Given the description of an element on the screen output the (x, y) to click on. 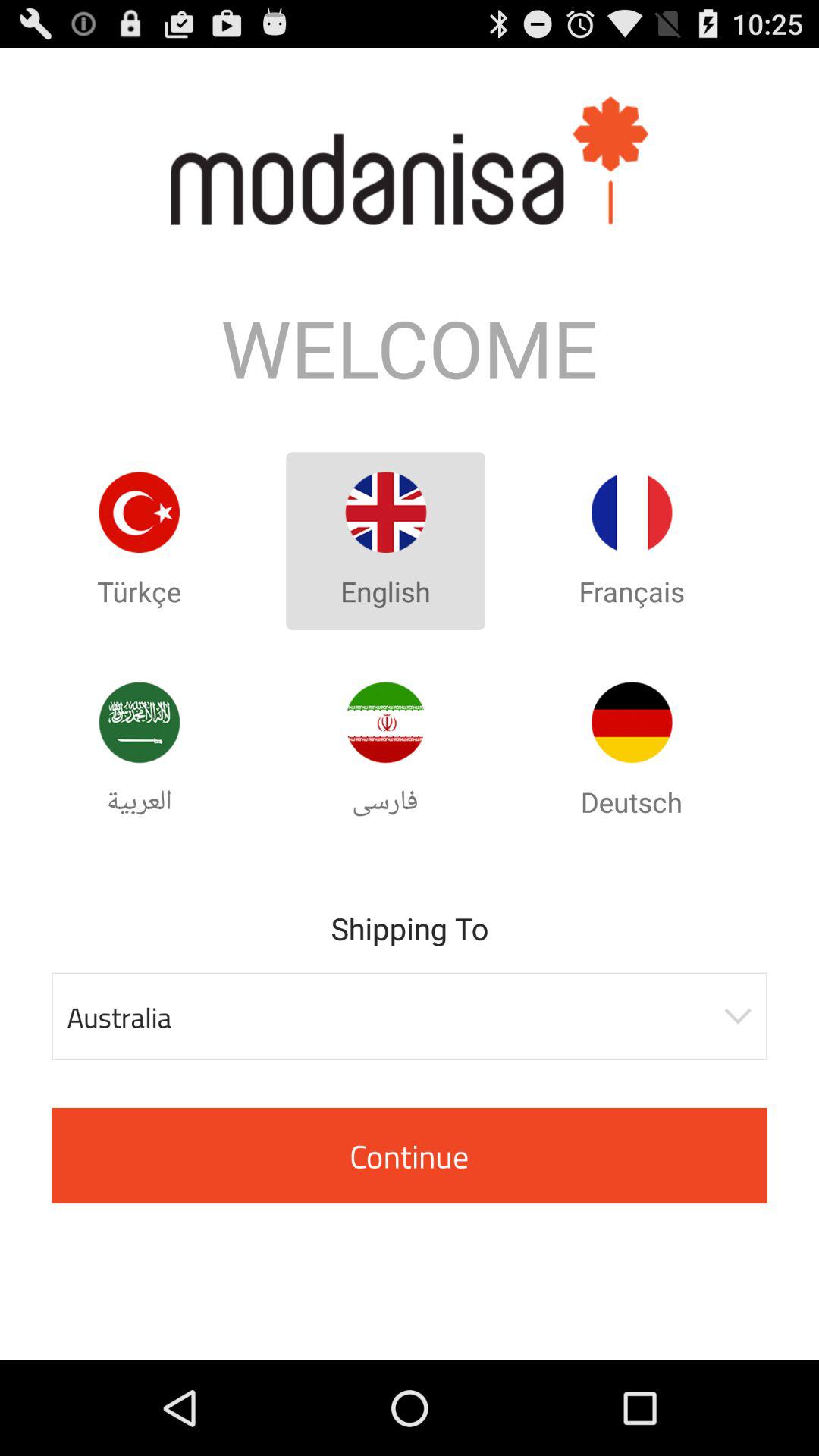
switch to arabic (138, 722)
